Given the description of an element on the screen output the (x, y) to click on. 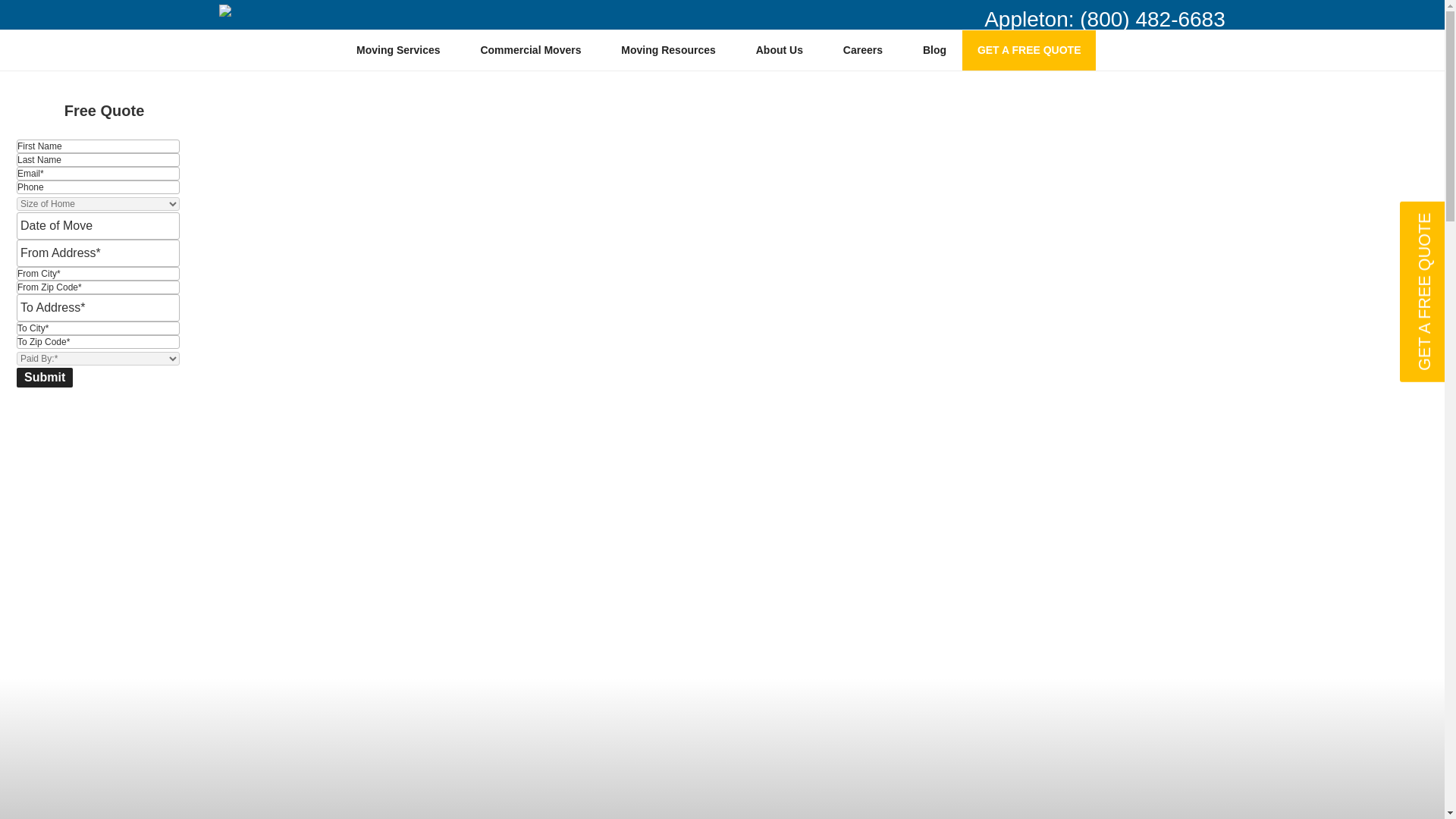
Moving Resources (673, 49)
About Us (784, 49)
Moving Services (403, 49)
Submit (44, 377)
Commercial Movers (536, 49)
